Given the description of an element on the screen output the (x, y) to click on. 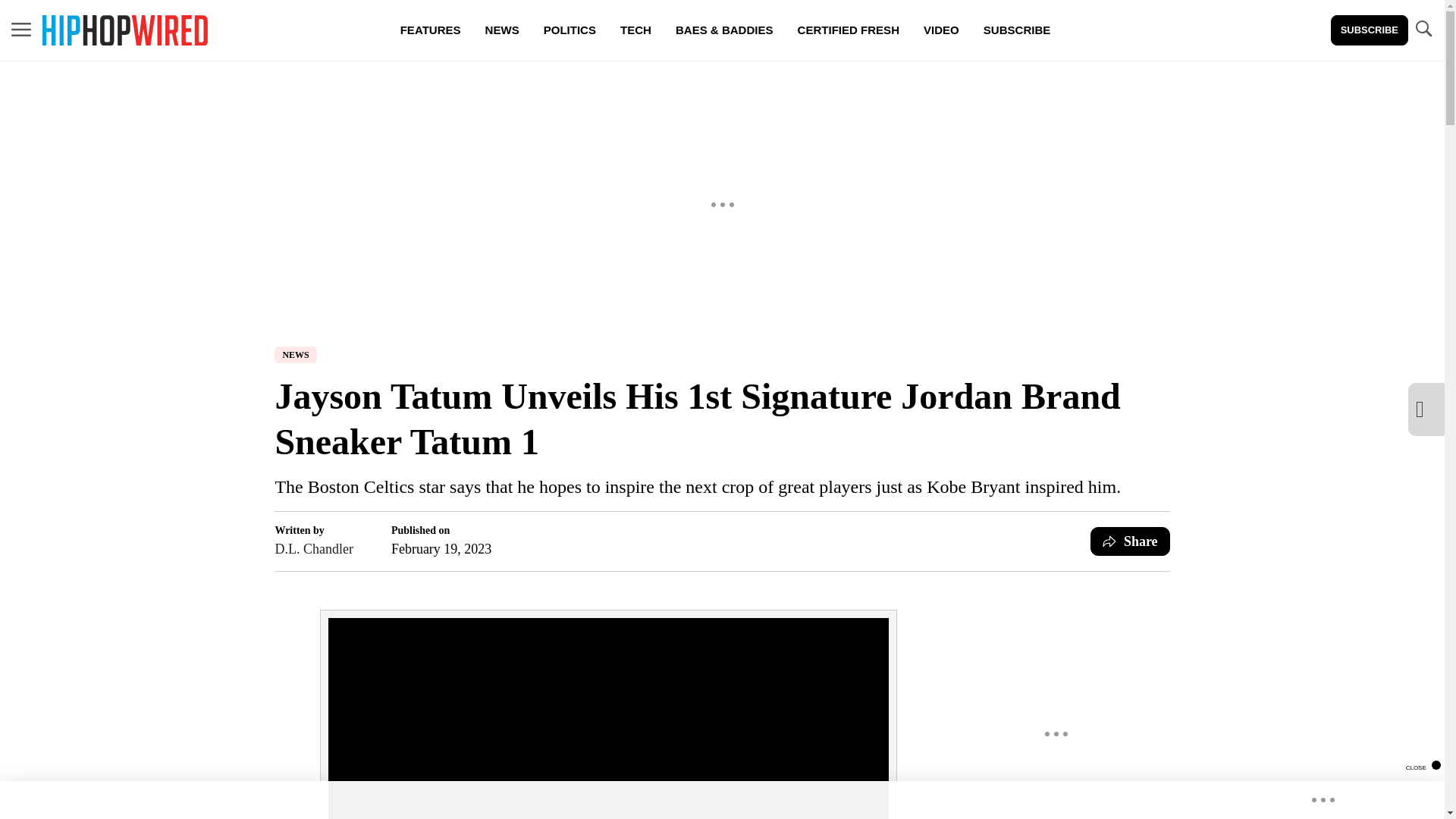
POLITICS (569, 30)
NEWS (502, 30)
TECH (635, 30)
Share (1130, 541)
CERTIFIED FRESH (848, 30)
FEATURES (430, 30)
VIDEO (941, 30)
MENU (20, 30)
D.L. Chandler (313, 548)
SUBSCRIBE (1368, 30)
